Given the description of an element on the screen output the (x, y) to click on. 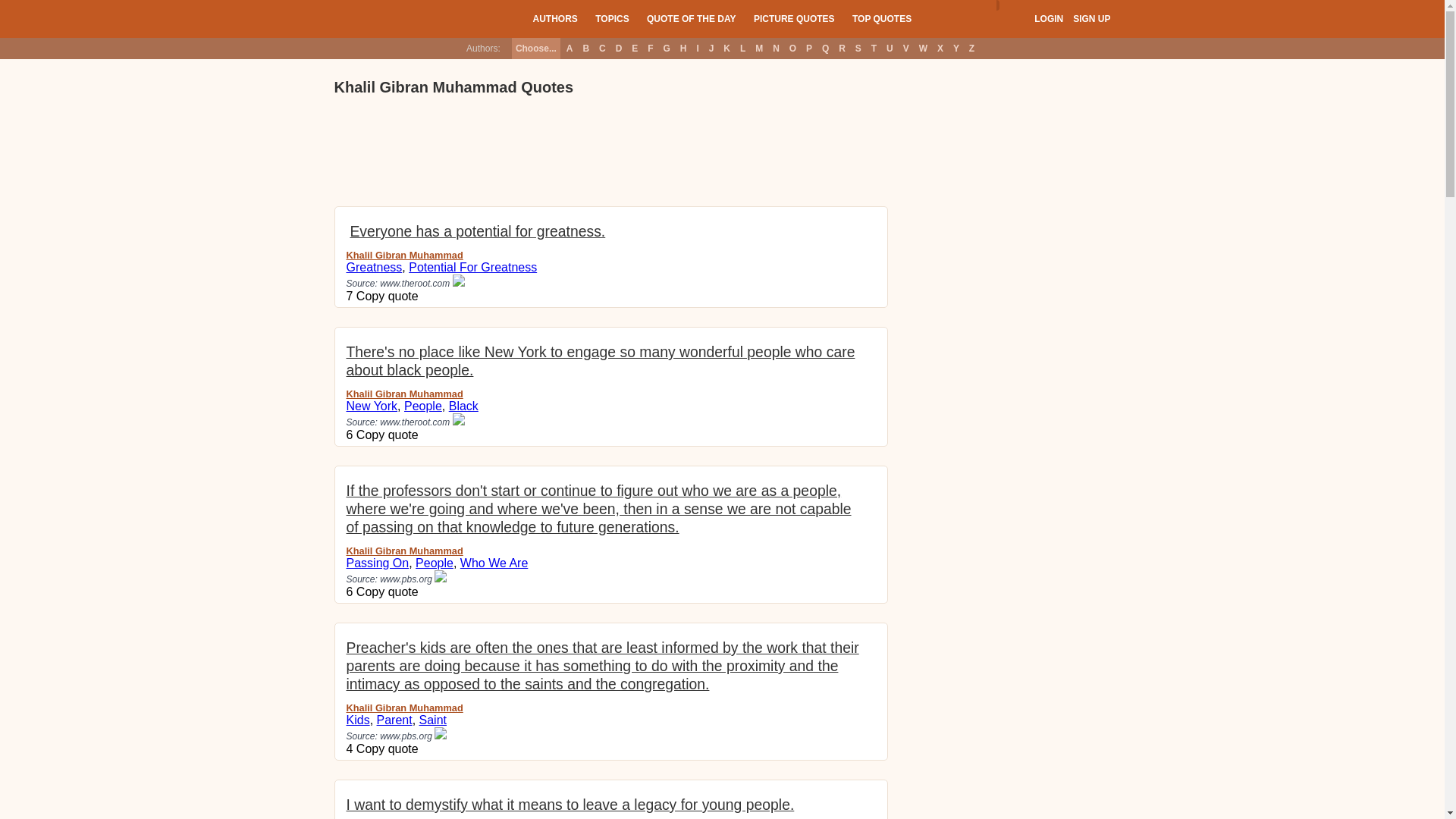
Quote is copied (387, 434)
QUOTE OF THE DAY (691, 18)
SIGN UP (1091, 18)
Quote is copied (387, 591)
TOP QUOTES (881, 18)
LOGIN (1047, 18)
Quote is copied (387, 748)
Choose... (536, 47)
TOPICS (612, 18)
PICTURE QUOTES (794, 18)
AUTHORS (554, 18)
Quote is copied (387, 295)
